Given the description of an element on the screen output the (x, y) to click on. 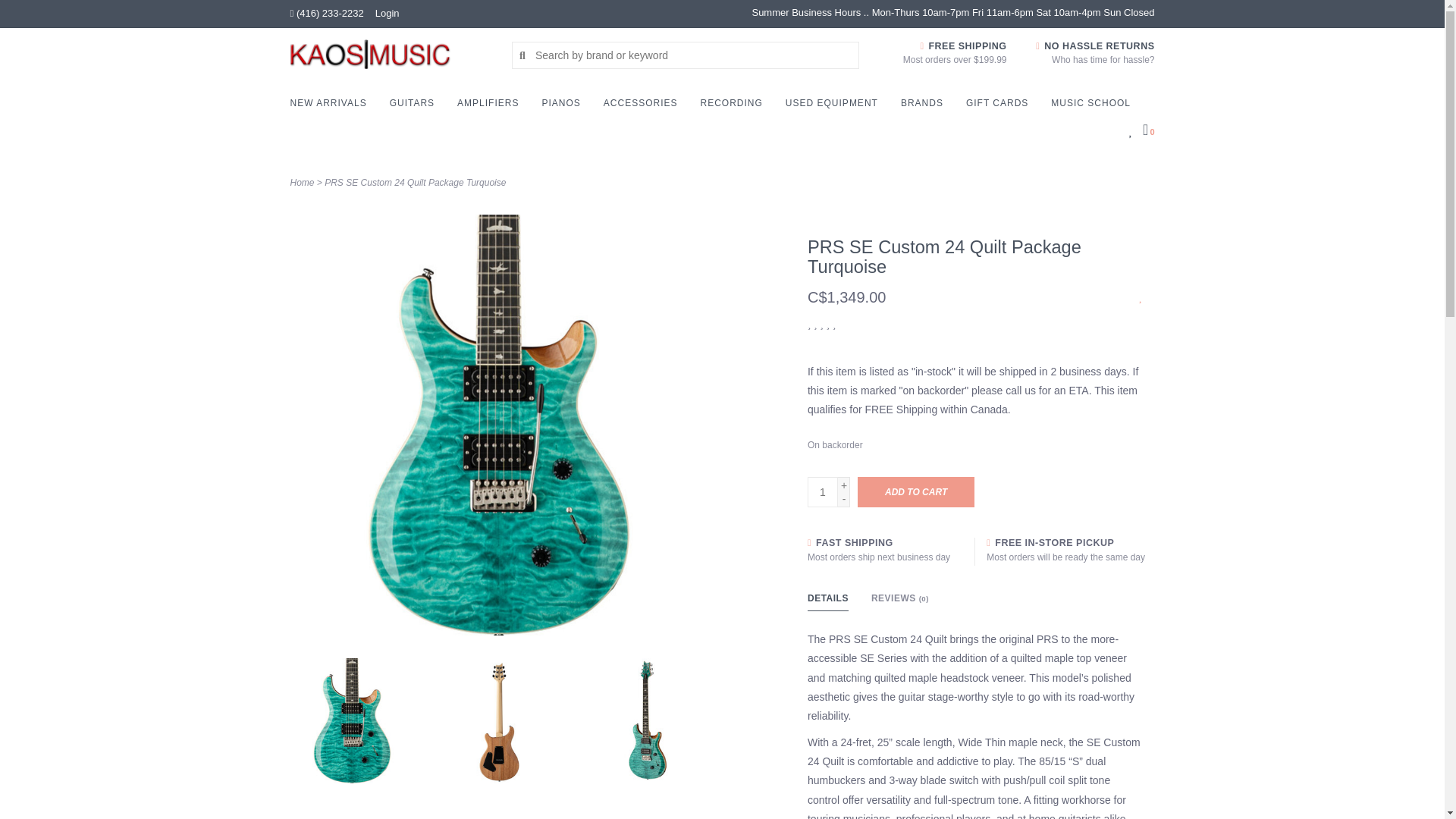
My account (386, 12)
Guitars (416, 107)
PIANOS (564, 107)
GUITARS (416, 107)
AMPLIFIERS (491, 107)
ACCESSORIES (644, 107)
Amplifiers (491, 107)
Login (386, 12)
Pianos (564, 107)
